Given the description of an element on the screen output the (x, y) to click on. 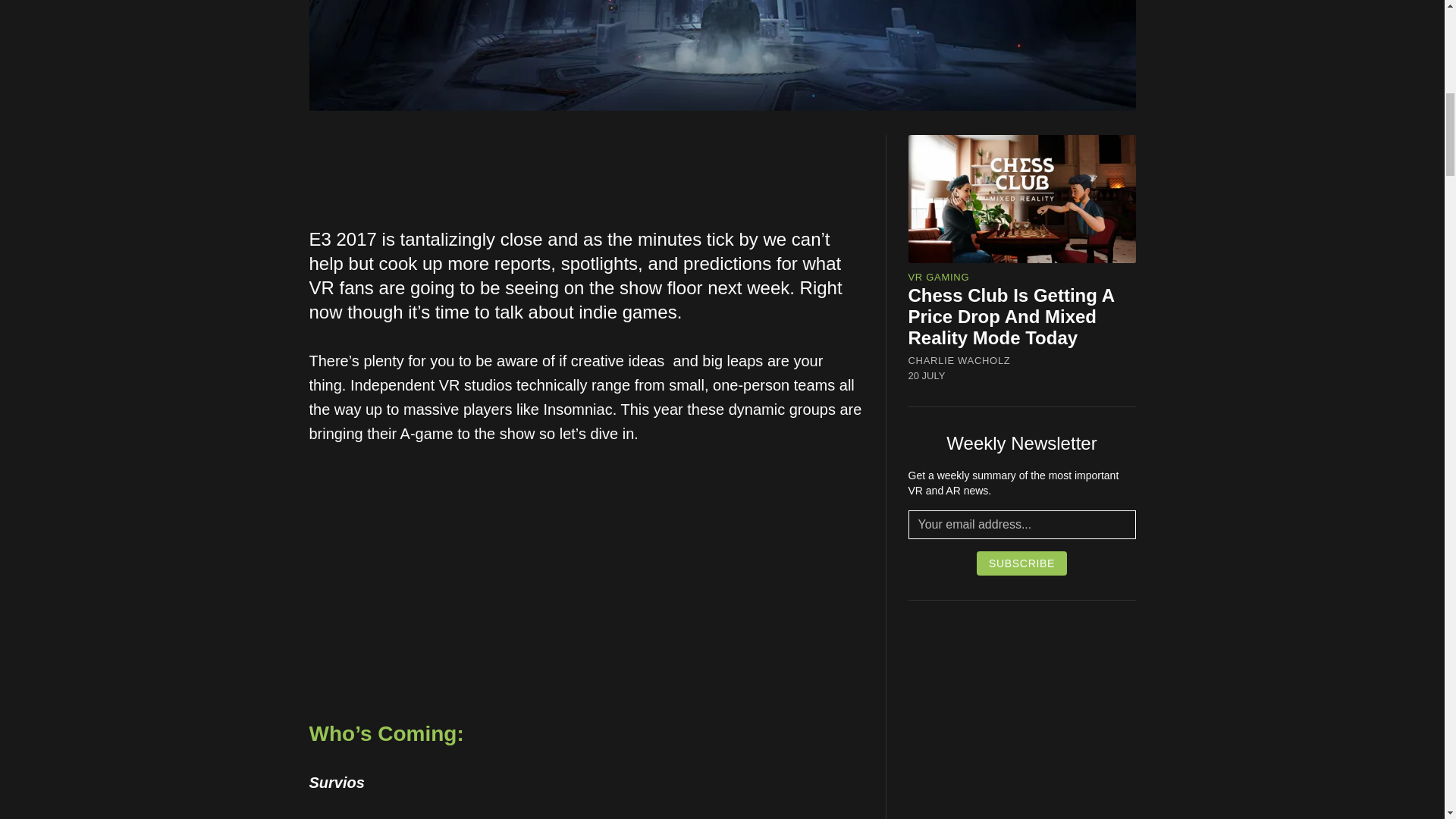
Subscribe (1021, 563)
CHARLIE WACHOLZ (959, 360)
Subscribe (1021, 563)
VR GAMING (938, 276)
